Given the description of an element on the screen output the (x, y) to click on. 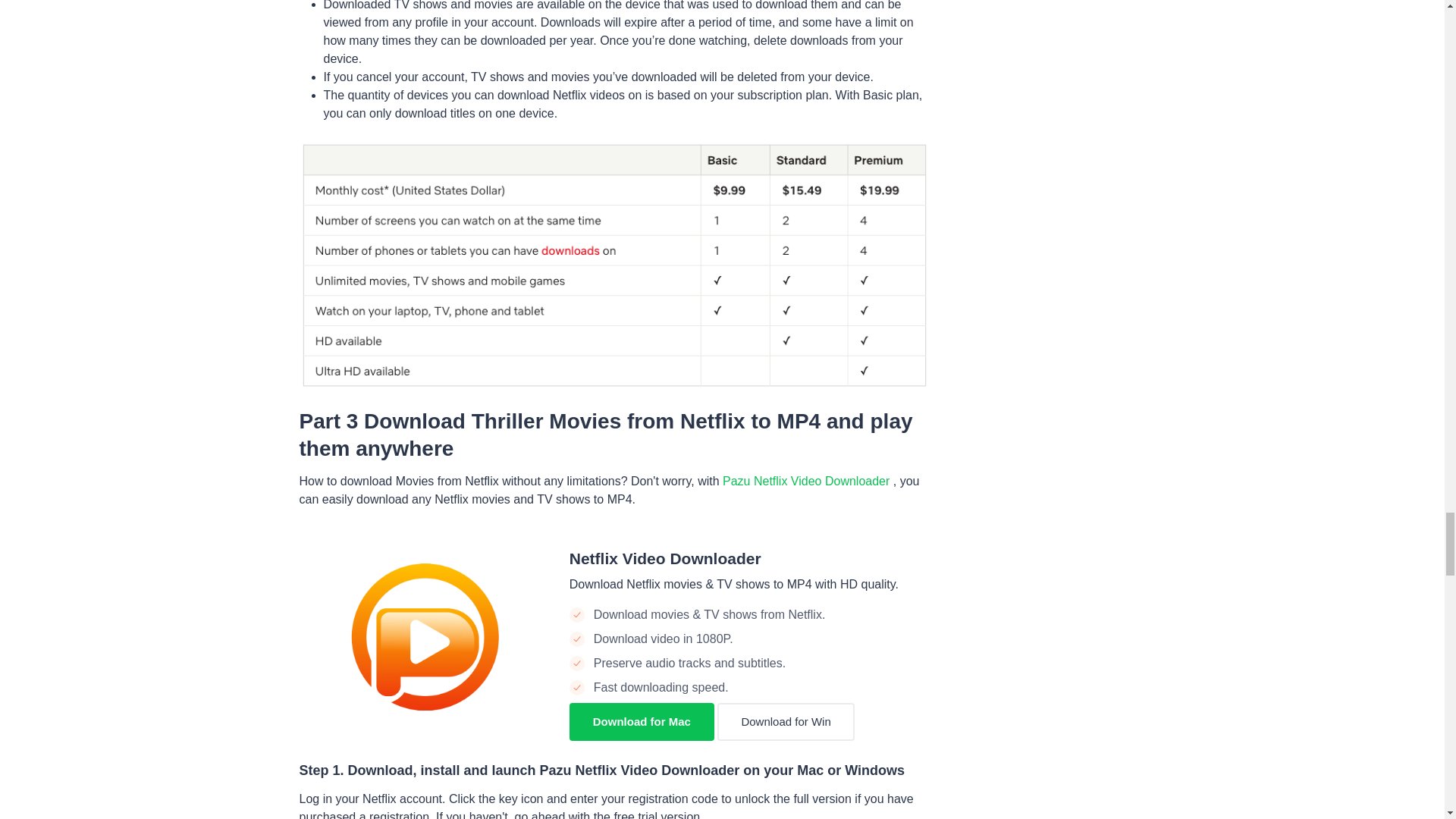
Download for Mac (641, 722)
Download for Win (785, 722)
Netflix Video Downloader (665, 558)
Pazu Netflix Video Downloader (807, 481)
